Given the description of an element on the screen output the (x, y) to click on. 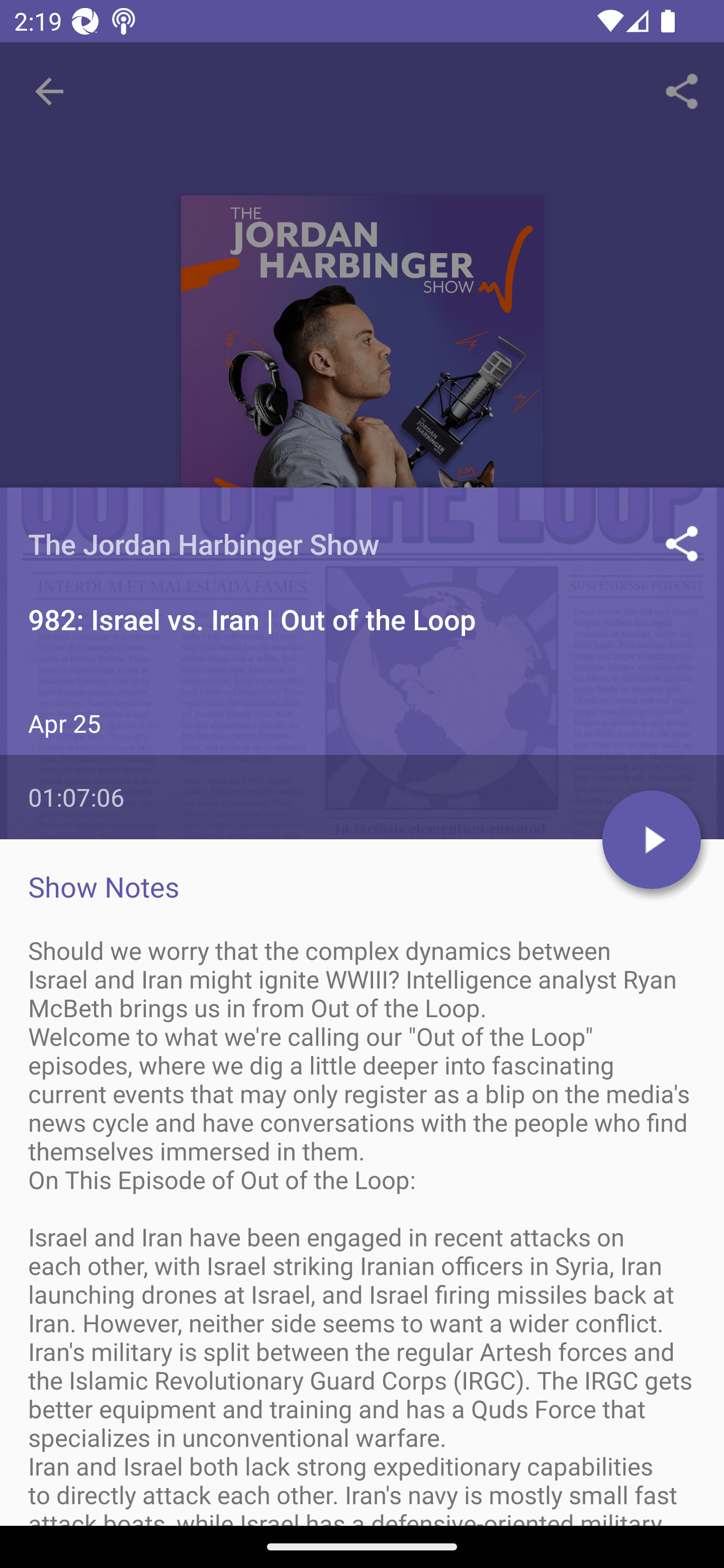
Apr 25 982: Israel vs. Iran | Out of the Loop (362, 867)
